Given the description of an element on the screen output the (x, y) to click on. 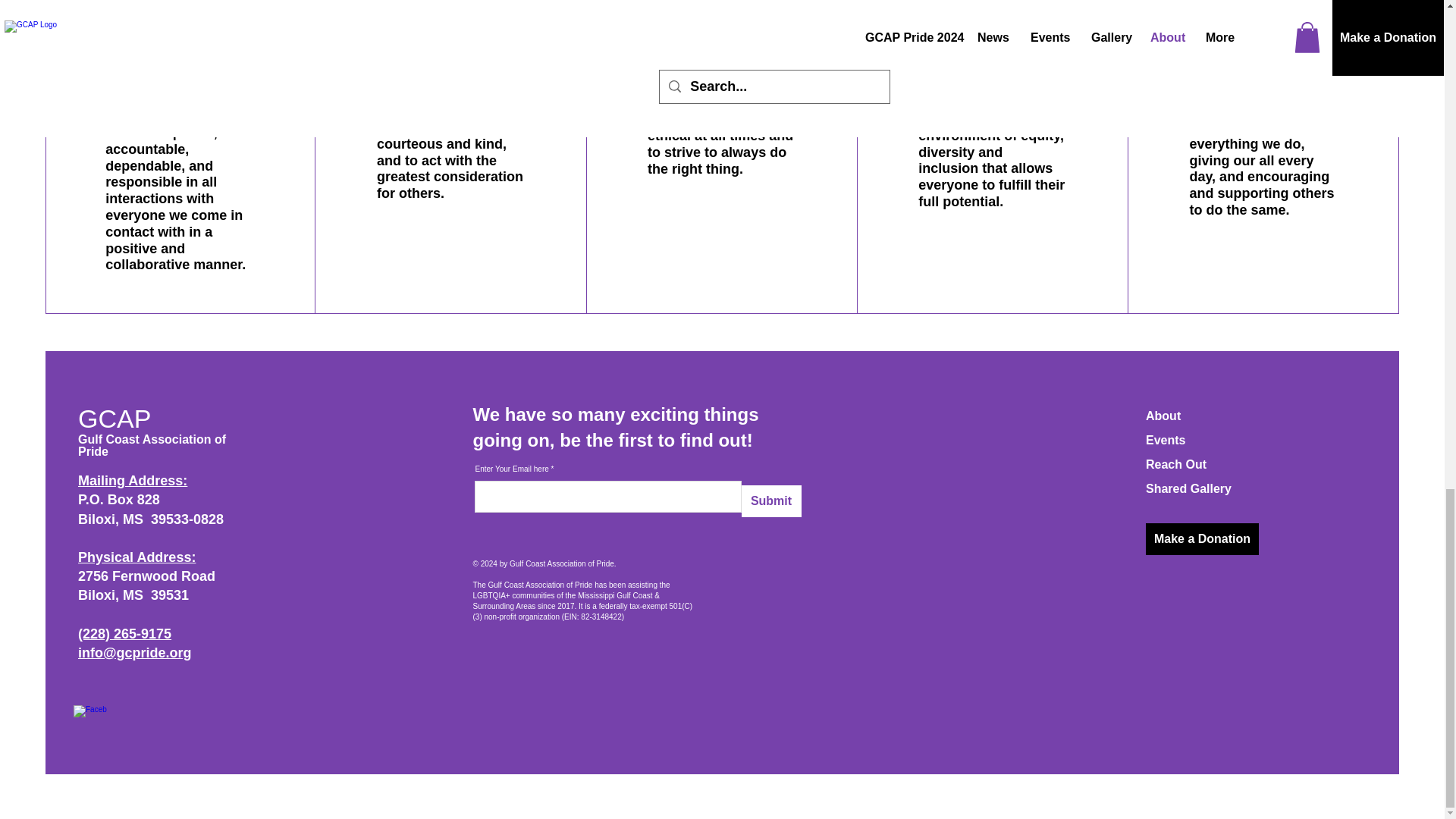
Events (1165, 440)
Make a Donation (1202, 539)
GCAP (114, 418)
About (1162, 415)
Submit (771, 500)
Reach Out (1176, 463)
Shared Gallery (1188, 488)
Gulf Coast Association of Pride (151, 445)
